Given the description of an element on the screen output the (x, y) to click on. 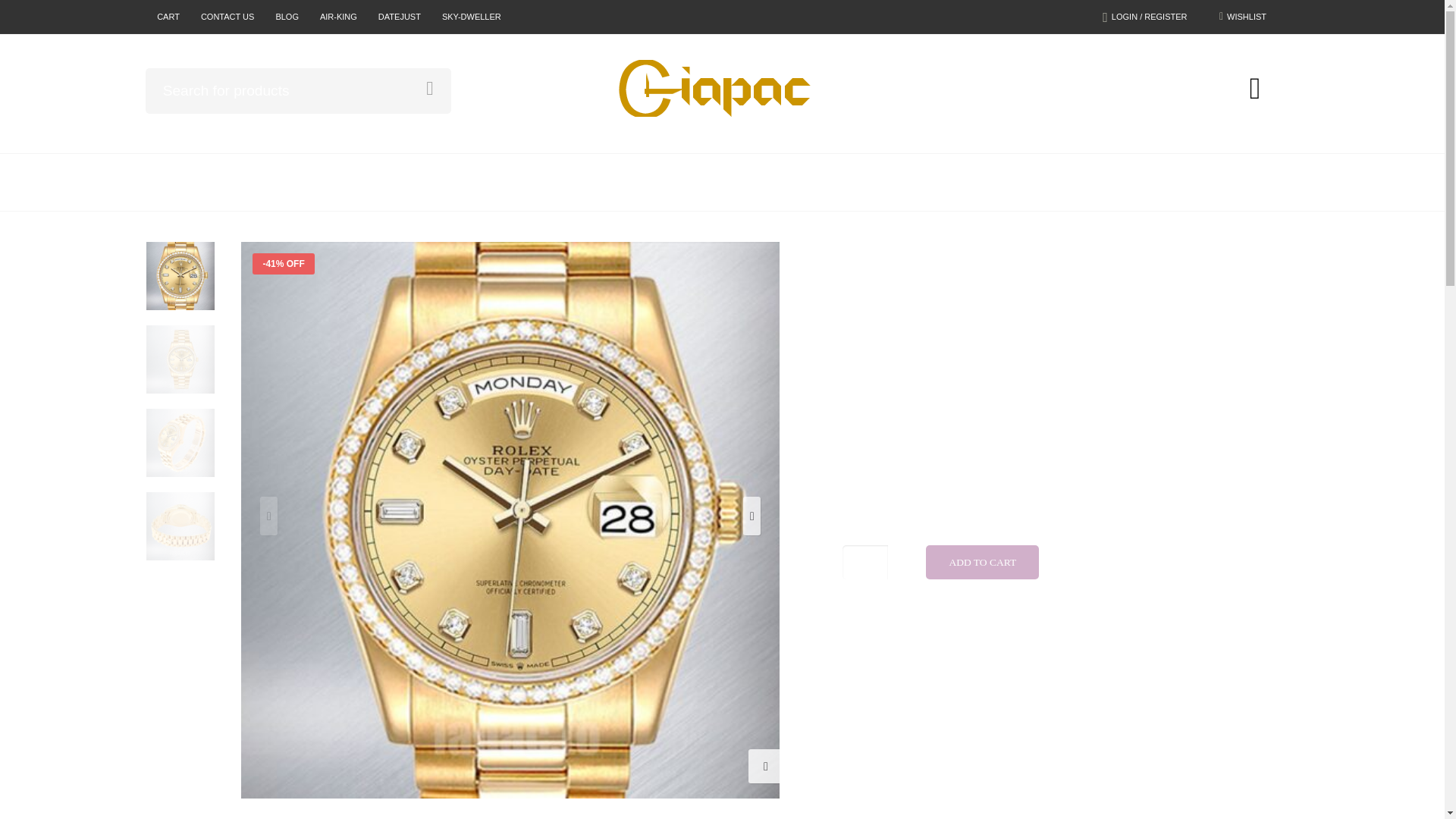
CONTACT US (227, 17)
Go to Products. (908, 261)
HOME (677, 182)
SKY-DWELLER (471, 17)
Go to the Day-Date Category archives. (1023, 261)
Search (429, 87)
Qty (865, 562)
PRODUCTS (908, 261)
CART (168, 17)
ROLEX (759, 182)
BLOG (286, 17)
AIR-KING (338, 17)
DAY-DATE (1023, 261)
Go to the Rolex Category archives. (967, 261)
